Given the description of an element on the screen output the (x, y) to click on. 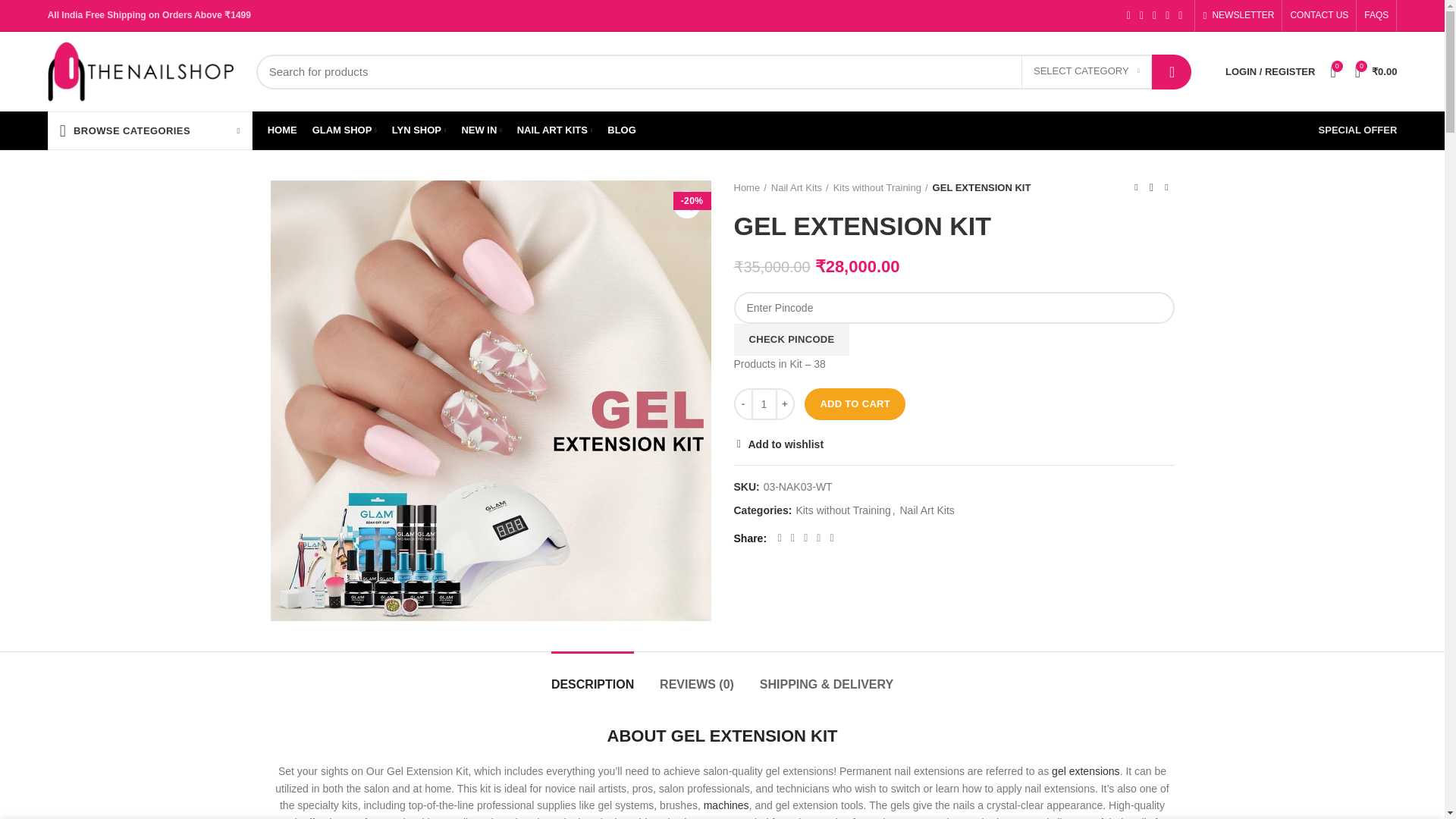
Shopping cart (1376, 71)
My Wishlist (1332, 71)
FAQS (1376, 15)
- (742, 404)
CONTACT US (1318, 15)
SELECT CATEGORY (1086, 71)
Search for products (723, 71)
SELECT CATEGORY (1086, 71)
NEWSLETTER (1238, 15)
My account (1269, 71)
1 (763, 404)
Qty (763, 404)
